Given the description of an element on the screen output the (x, y) to click on. 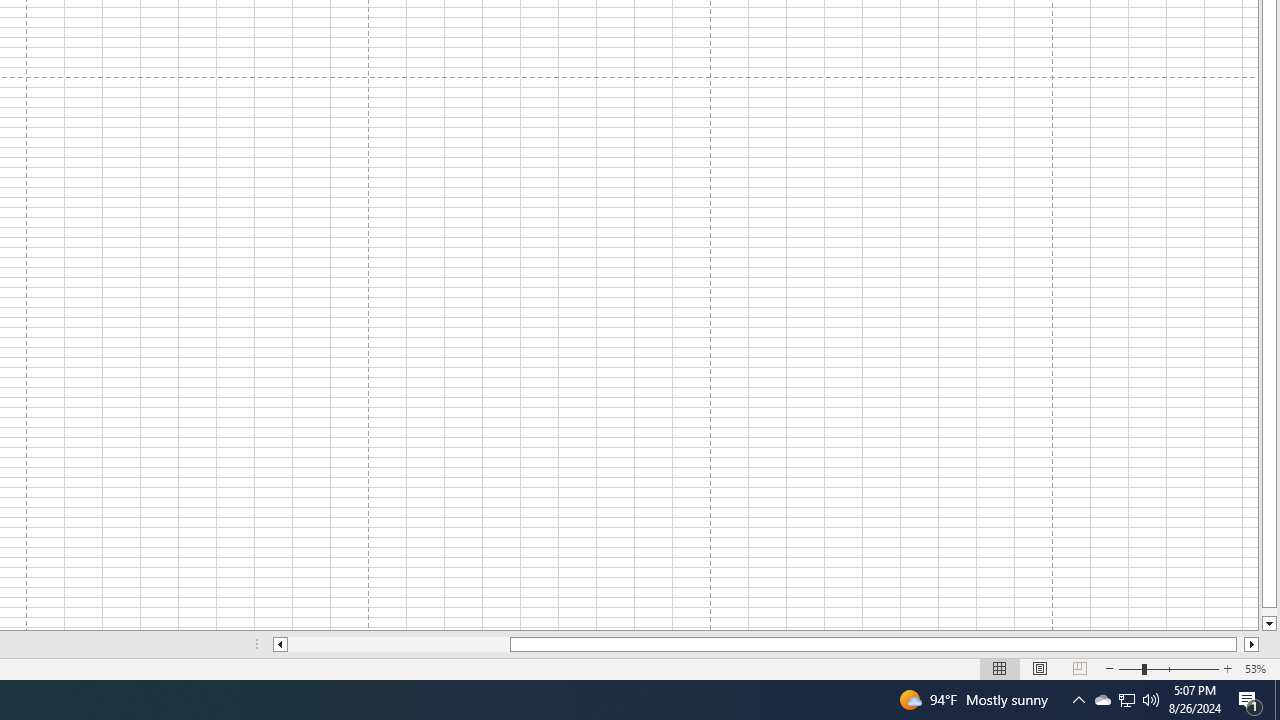
Column left (279, 644)
Line down (1268, 624)
Zoom Out (1129, 668)
Column right (1252, 644)
Page down (1268, 611)
Zoom In (1227, 668)
Page right (1240, 644)
Page left (398, 644)
